Given the description of an element on the screen output the (x, y) to click on. 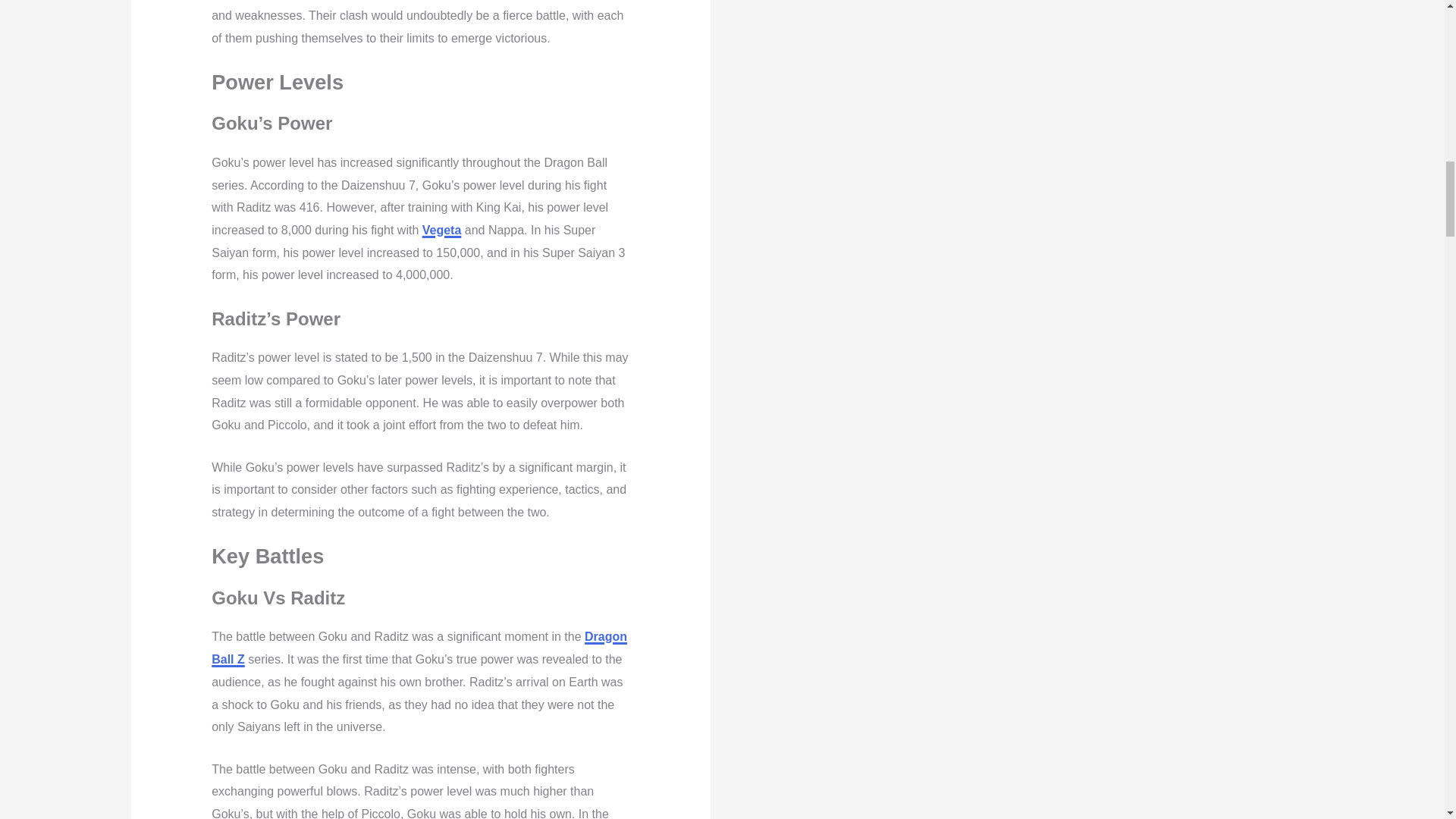
Dragon Ball Z (419, 647)
Dragon Ball Z (419, 647)
Vegeta (441, 229)
Vegeta (441, 229)
